Given the description of an element on the screen output the (x, y) to click on. 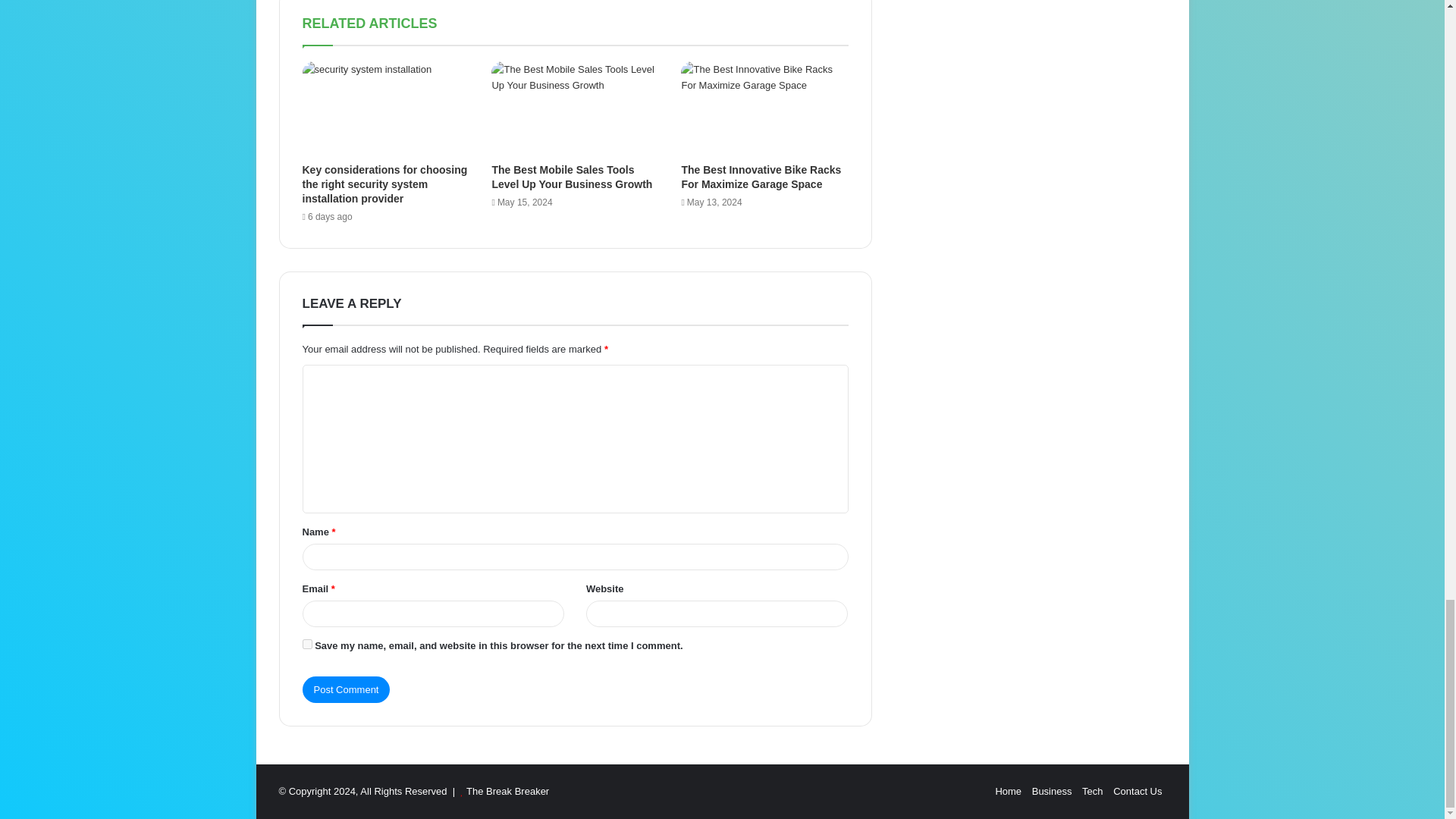
Post Comment (345, 689)
yes (306, 644)
